Given the description of an element on the screen output the (x, y) to click on. 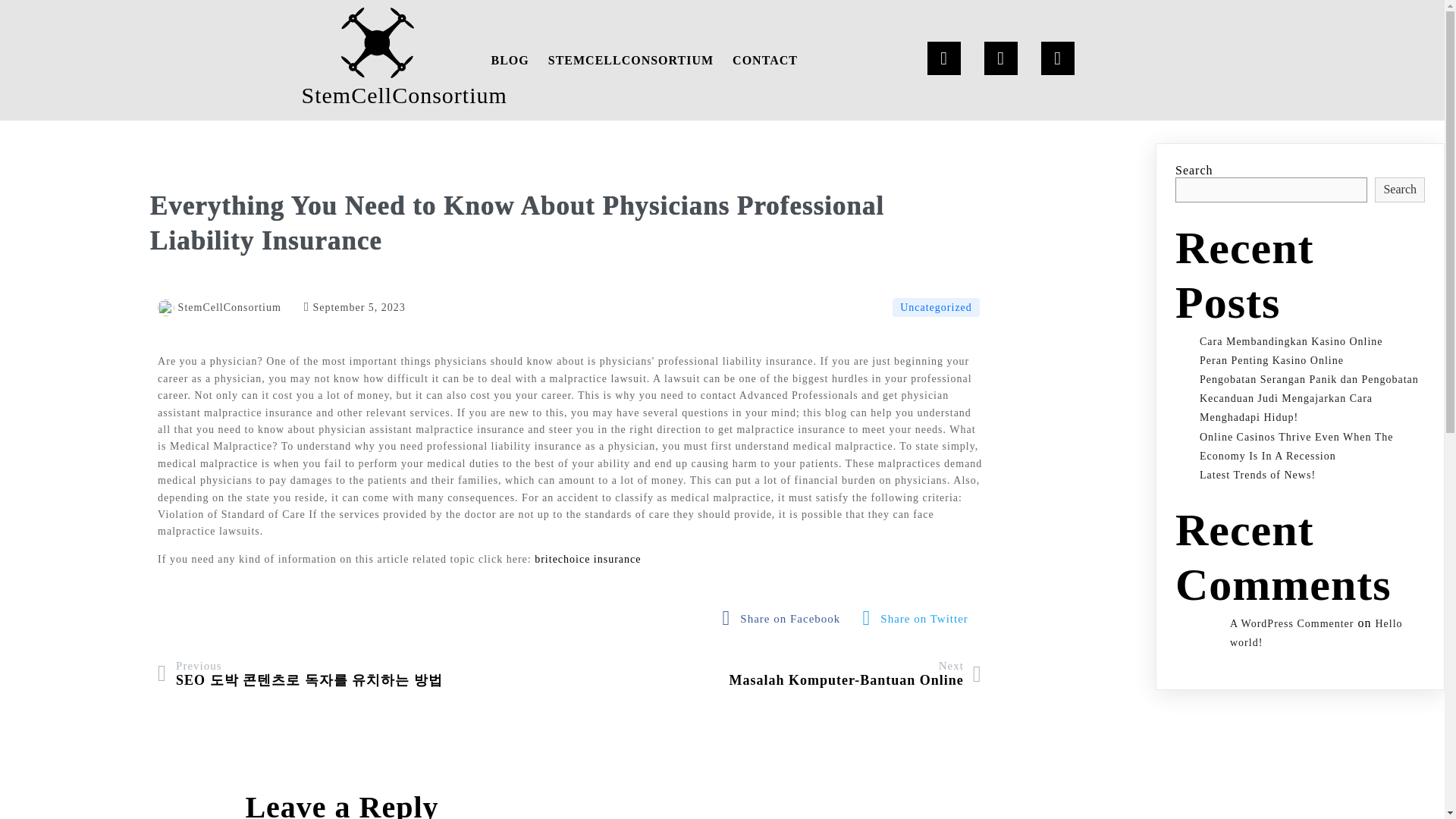
STEMCELLCONSORTIUM (630, 59)
Cara Membandingkan Kasino Online (1291, 341)
A WordPress Commenter (1292, 623)
fab fa-twitter-square (920, 618)
Uncategorized (935, 307)
Latest Trends of News! (1257, 474)
Peran Penting Kasino Online (1271, 360)
Share on Facebook (786, 618)
StemCellConsortium (377, 60)
